Given the description of an element on the screen output the (x, y) to click on. 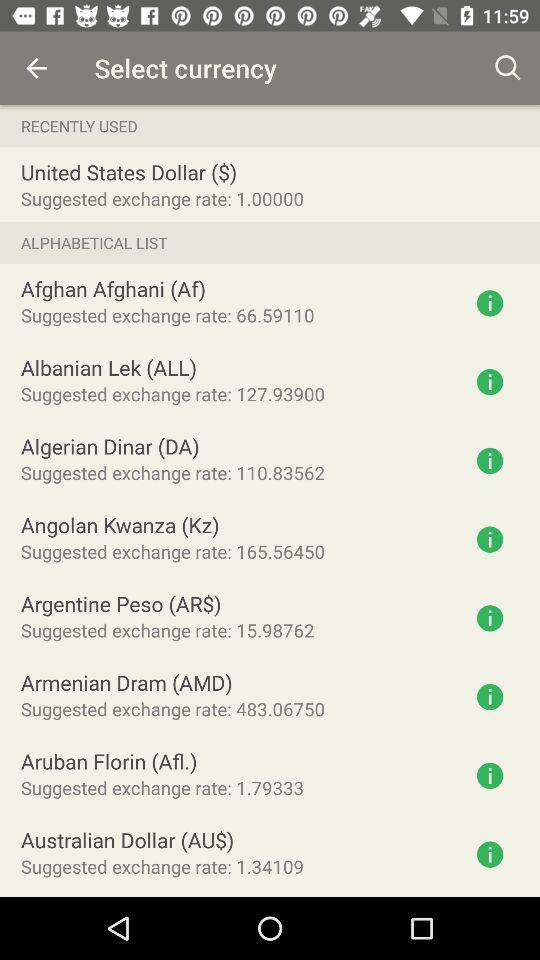
more information (490, 775)
